Given the description of an element on the screen output the (x, y) to click on. 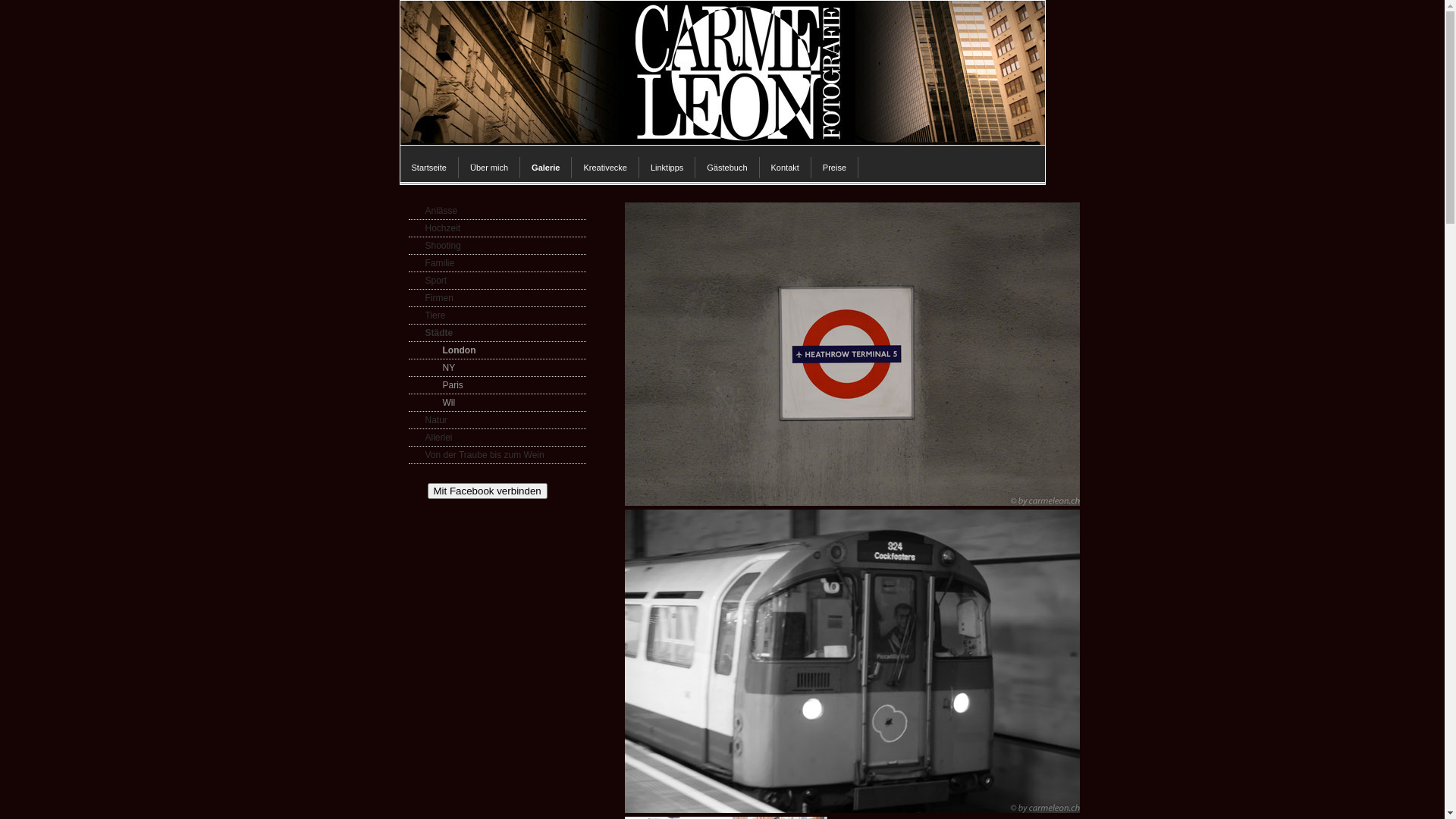
Kreativecke Element type: text (604, 167)
Natur Element type: text (496, 420)
London Element type: text (496, 350)
Von der Traube bis zum Wein Element type: text (496, 455)
Familie Element type: text (496, 263)
NY Element type: text (496, 367)
Paris Element type: text (496, 385)
Firmen Element type: text (496, 298)
Galerie Element type: text (545, 167)
Mit Facebook verbinden Element type: text (487, 490)
Linktipps Element type: text (667, 167)
Kontakt Element type: text (785, 167)
Startseite Element type: text (429, 167)
Wil Element type: text (496, 402)
Sport Element type: text (496, 280)
Allerlei Element type: text (496, 437)
Hochzeit Element type: text (496, 228)
Shooting Element type: text (496, 245)
Preise Element type: text (834, 167)
Tiere Element type: text (496, 315)
